Given the description of an element on the screen output the (x, y) to click on. 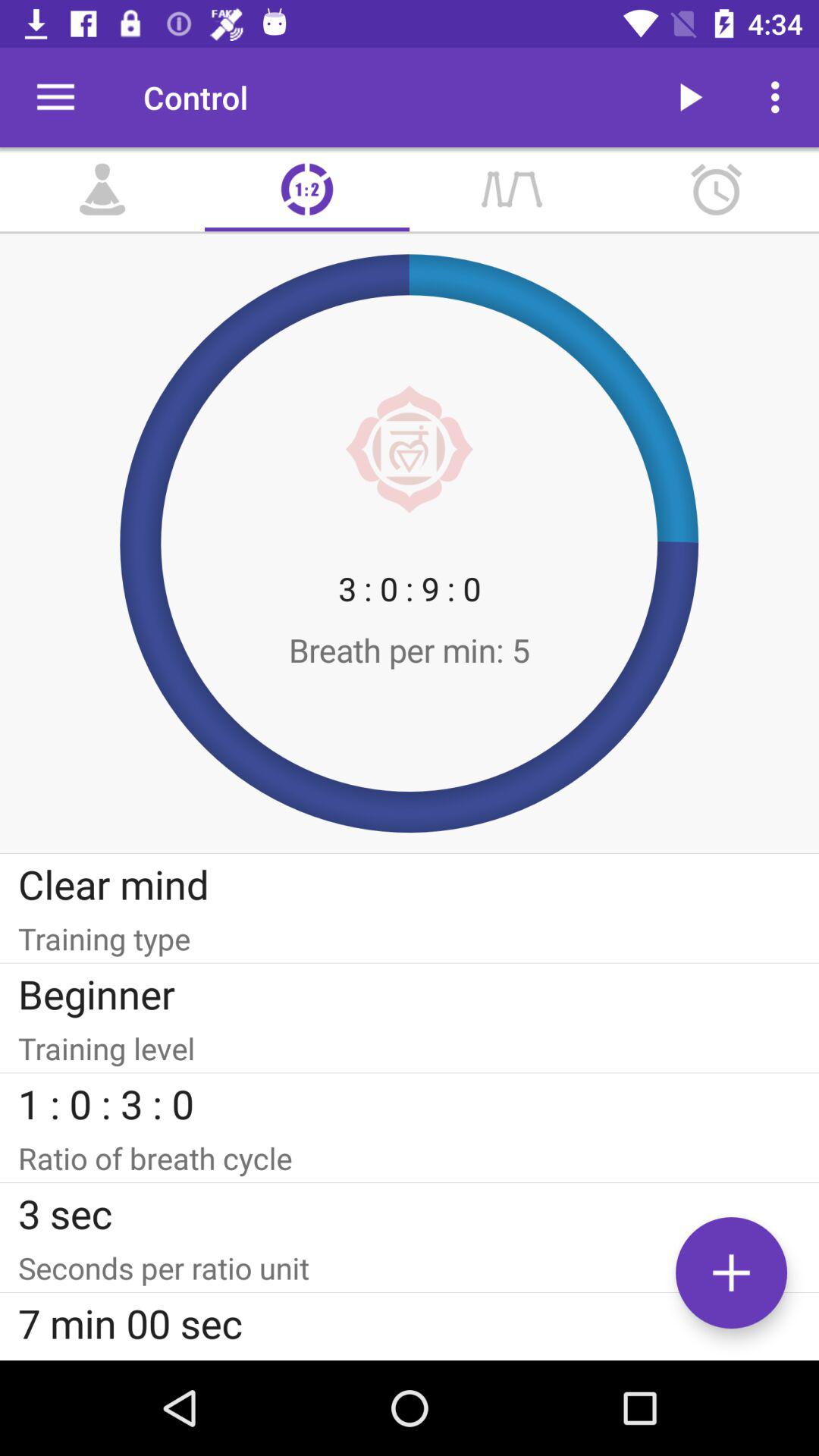
tap item above 7 min 00 (409, 1267)
